Given the description of an element on the screen output the (x, y) to click on. 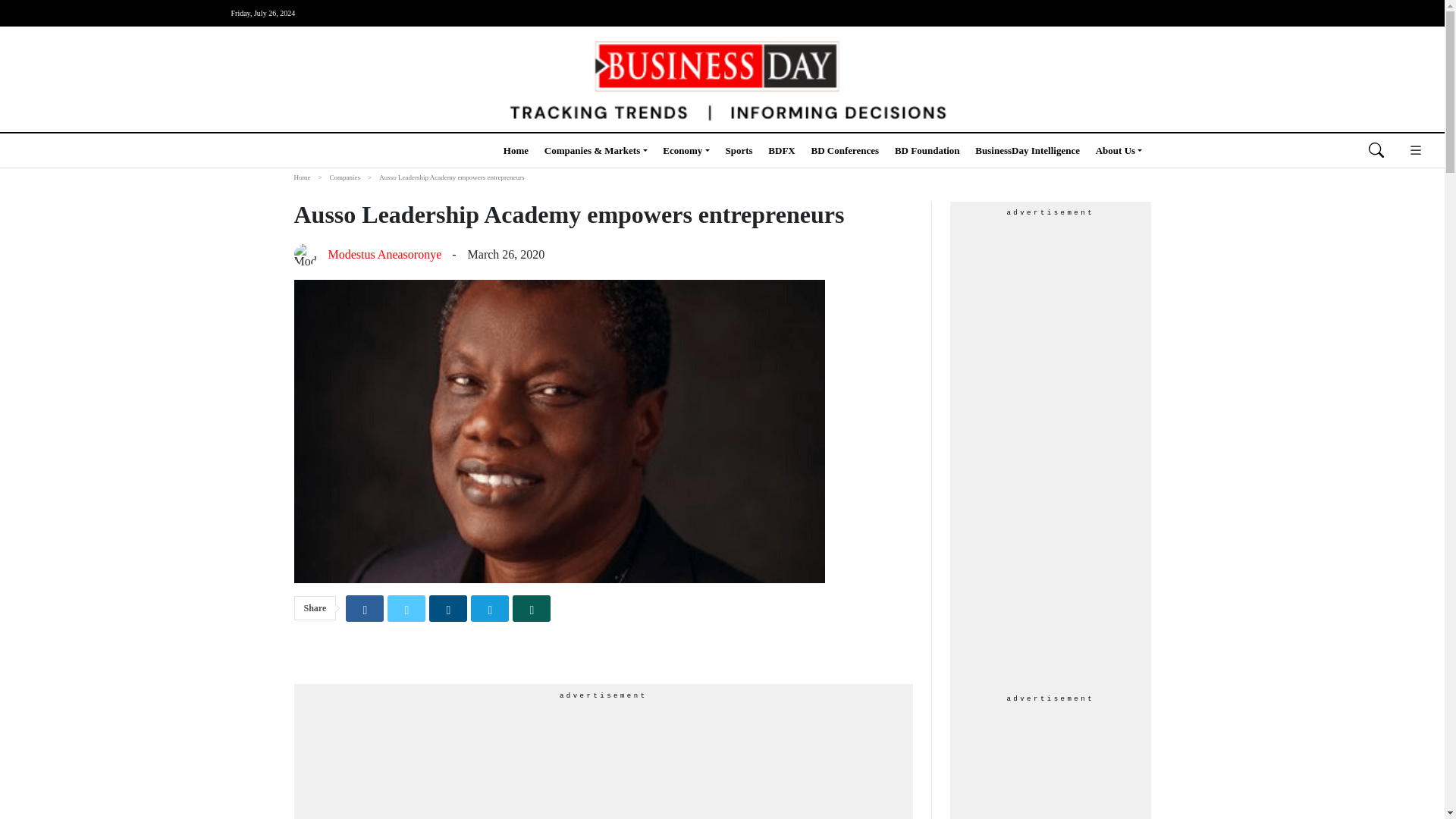
BusinessDay Intelligence (1027, 149)
About Us (1119, 149)
BD Foundation (927, 149)
Economy (685, 149)
Economy (685, 149)
About Us (1119, 149)
BusinessDay Intelligence (1027, 149)
BD Foundation (927, 149)
BD Conferences (844, 149)
BD Conferences (844, 149)
